Given the description of an element on the screen output the (x, y) to click on. 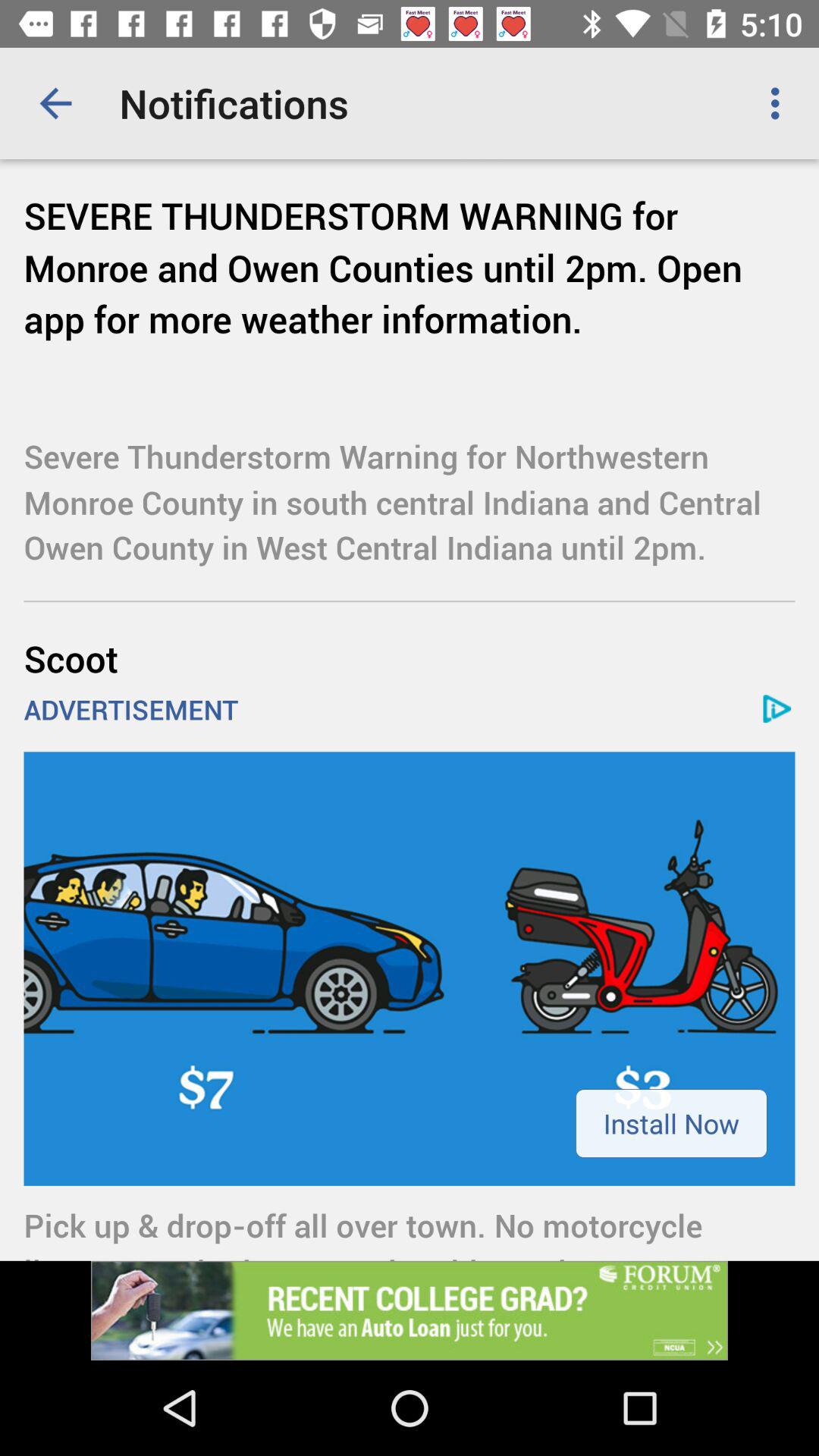
advertisement (409, 1310)
